Given the description of an element on the screen output the (x, y) to click on. 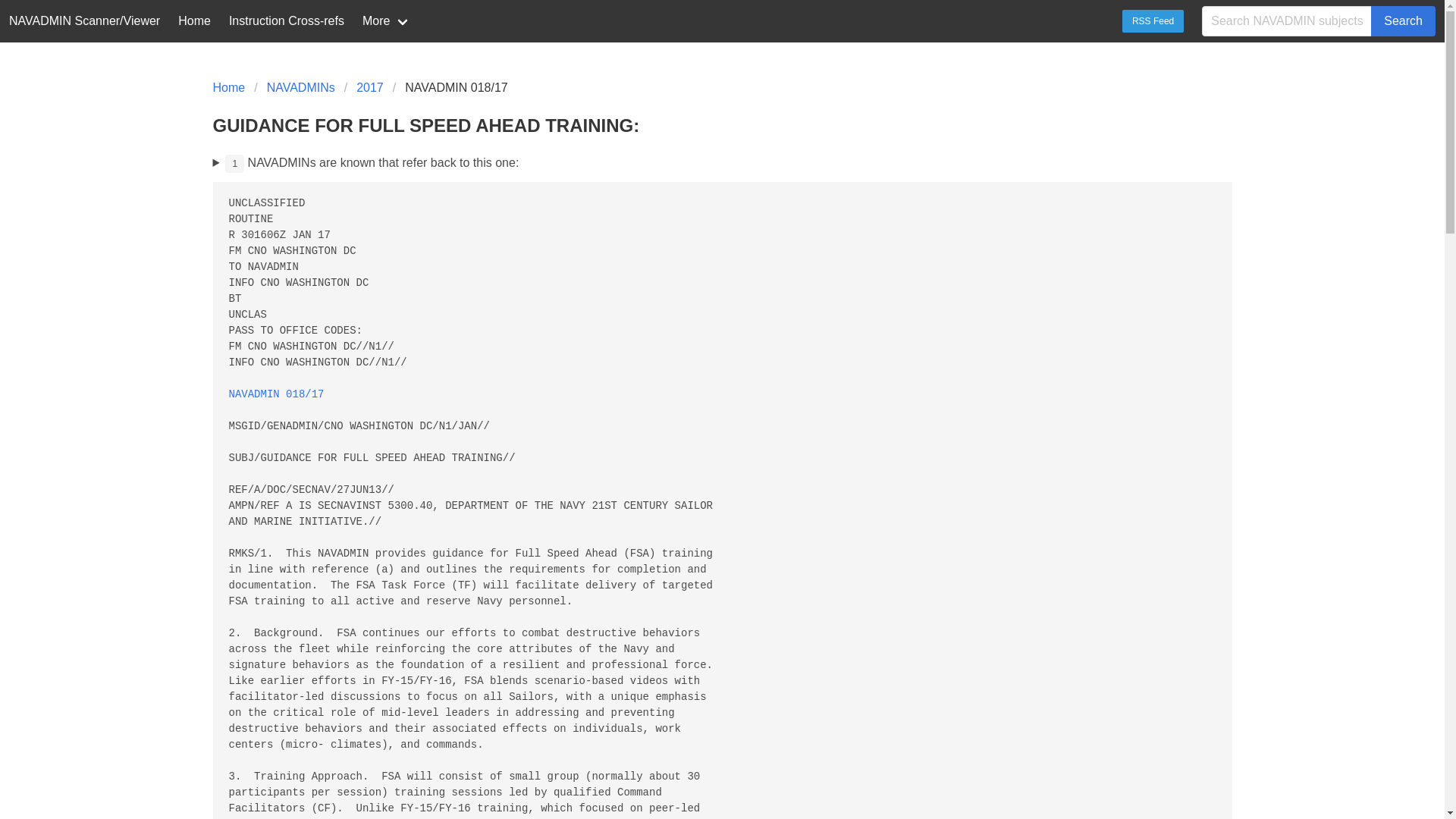
2017 (370, 87)
Instruction Cross-refs (286, 21)
NAVADMINs (300, 87)
Search (1403, 20)
Home (232, 87)
RSS Feed (1152, 20)
More (386, 21)
Home (193, 21)
